Given the description of an element on the screen output the (x, y) to click on. 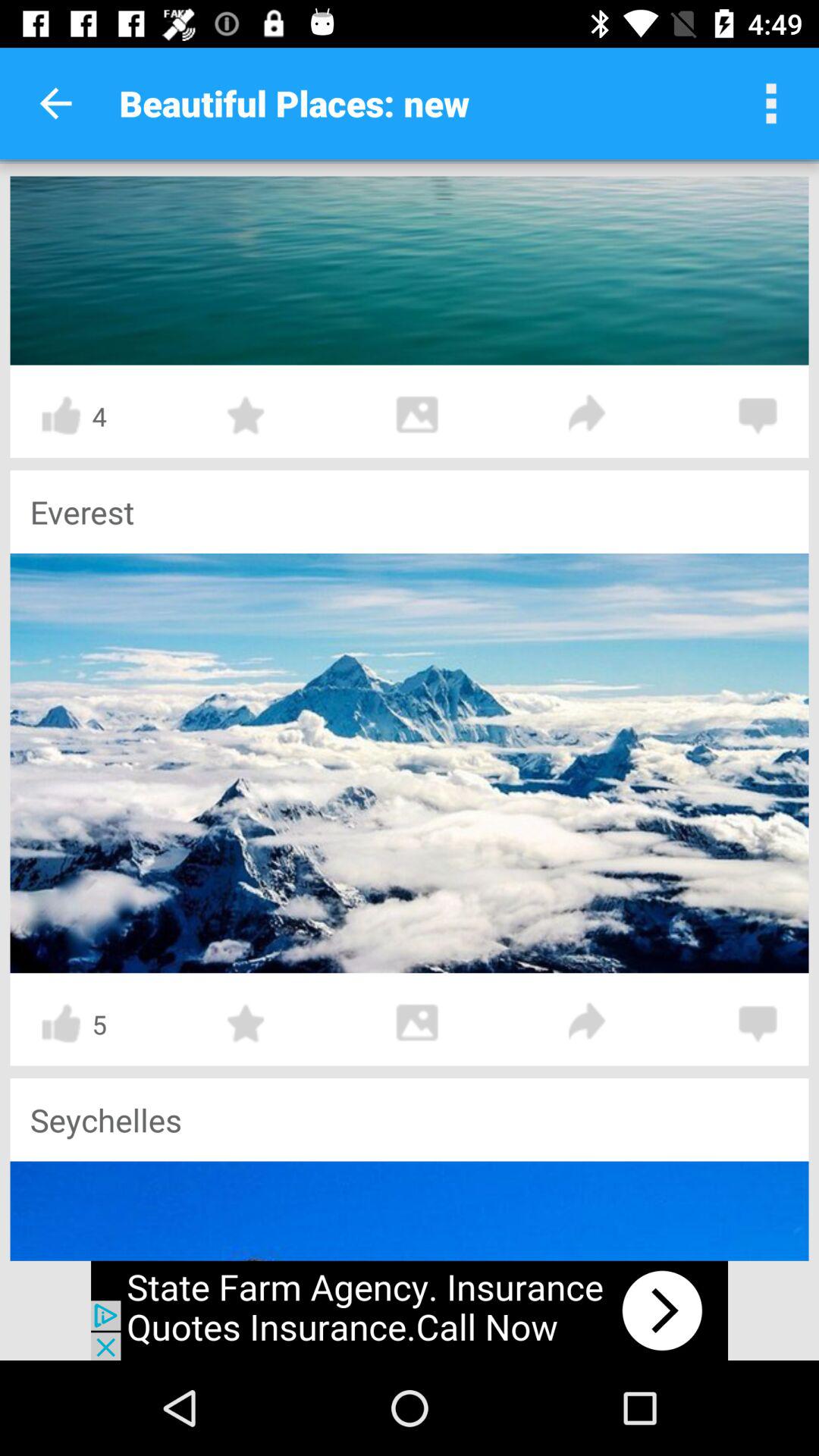
add to favourites (246, 415)
